Given the description of an element on the screen output the (x, y) to click on. 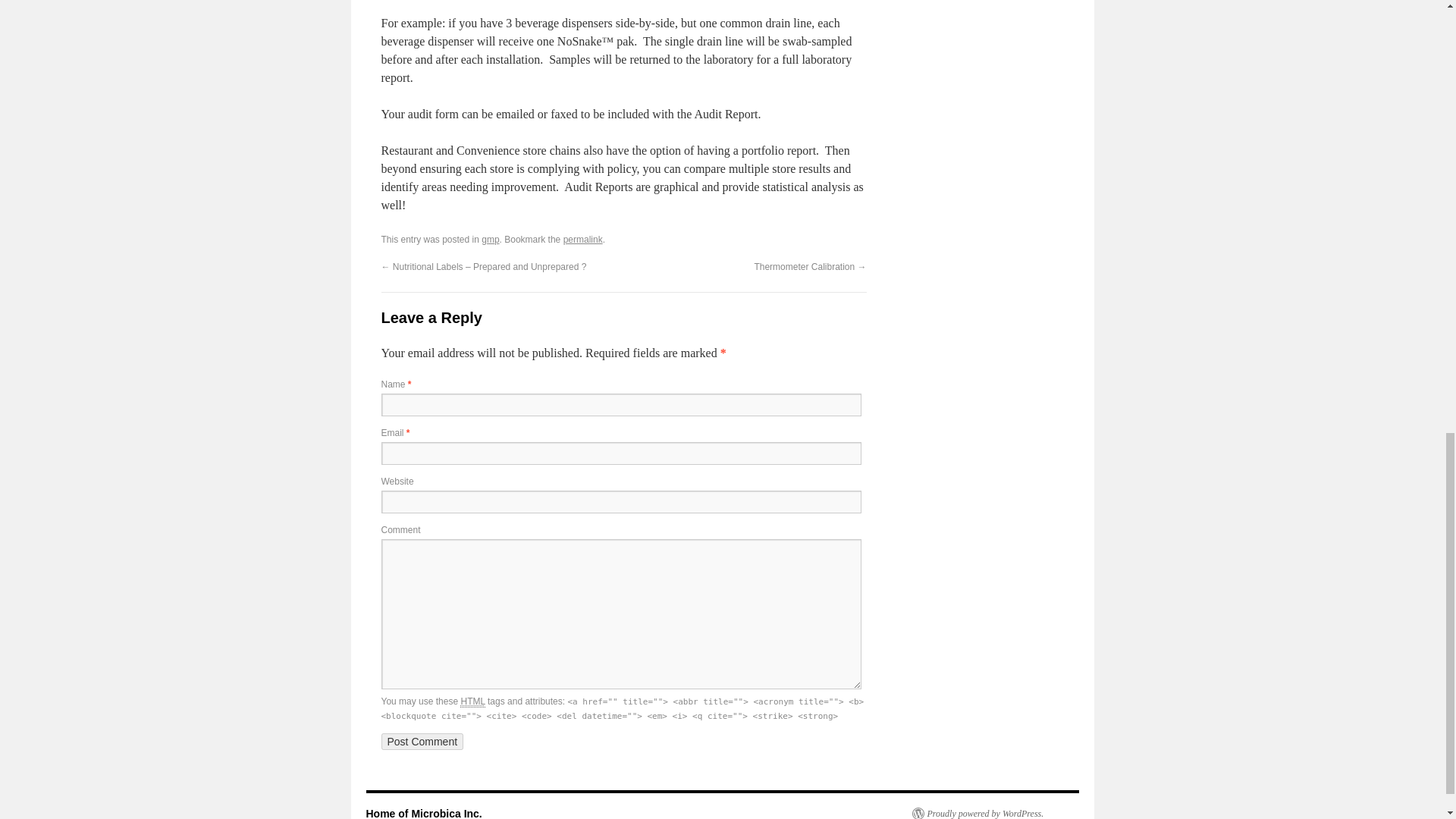
HyperText Markup Language (472, 701)
permalink (582, 239)
Post Comment (421, 741)
gmp (490, 239)
Post Comment (421, 741)
